Given the description of an element on the screen output the (x, y) to click on. 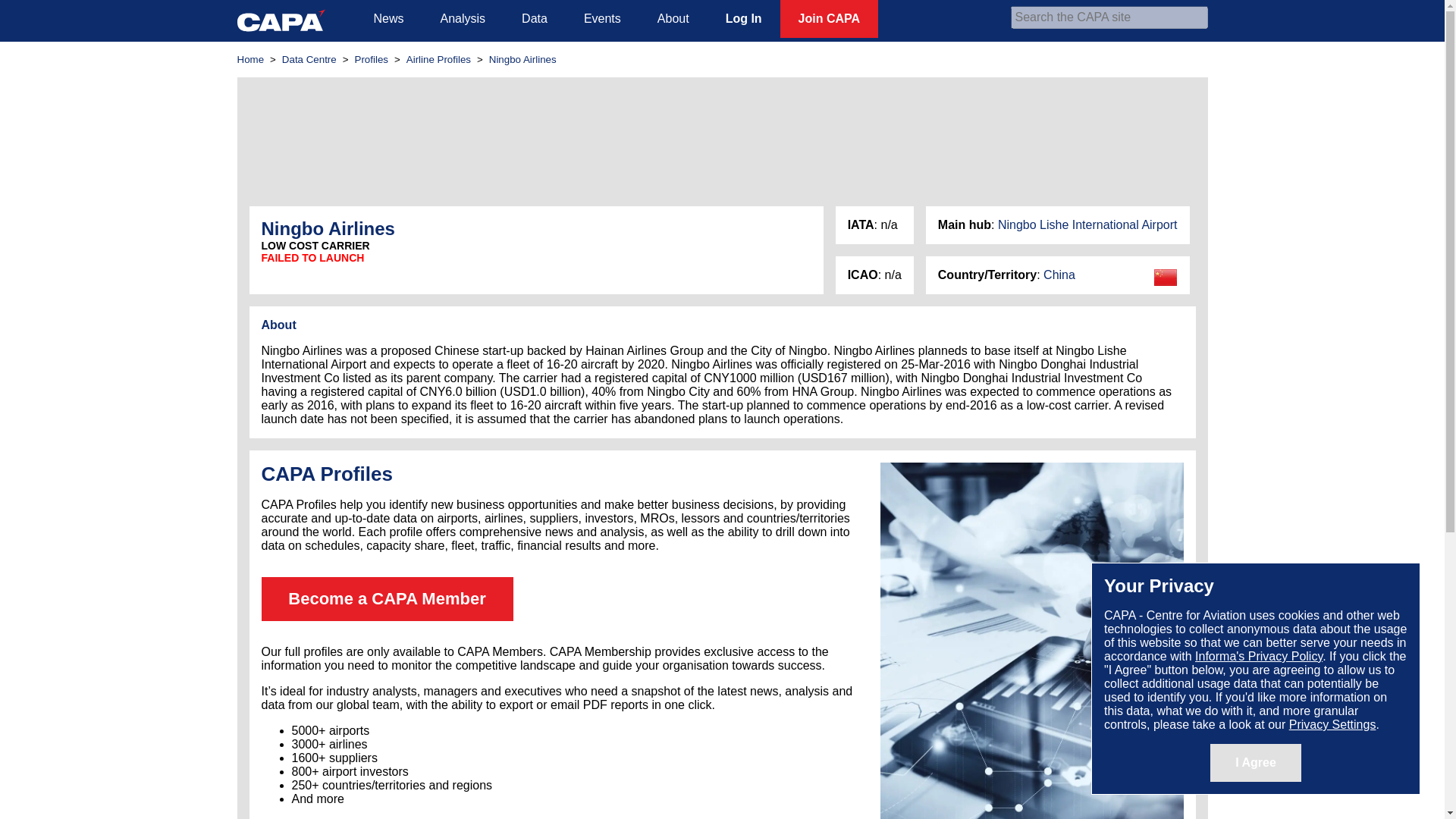
Privacy Settings (1331, 724)
Airline Profiles (438, 59)
CAPA - Centre for Aviation (279, 20)
Data Centre (309, 59)
Join CAPA (828, 18)
Profiles (371, 59)
Home (249, 59)
Ningbo Airlines (522, 59)
Events (602, 18)
News (388, 18)
